Given the description of an element on the screen output the (x, y) to click on. 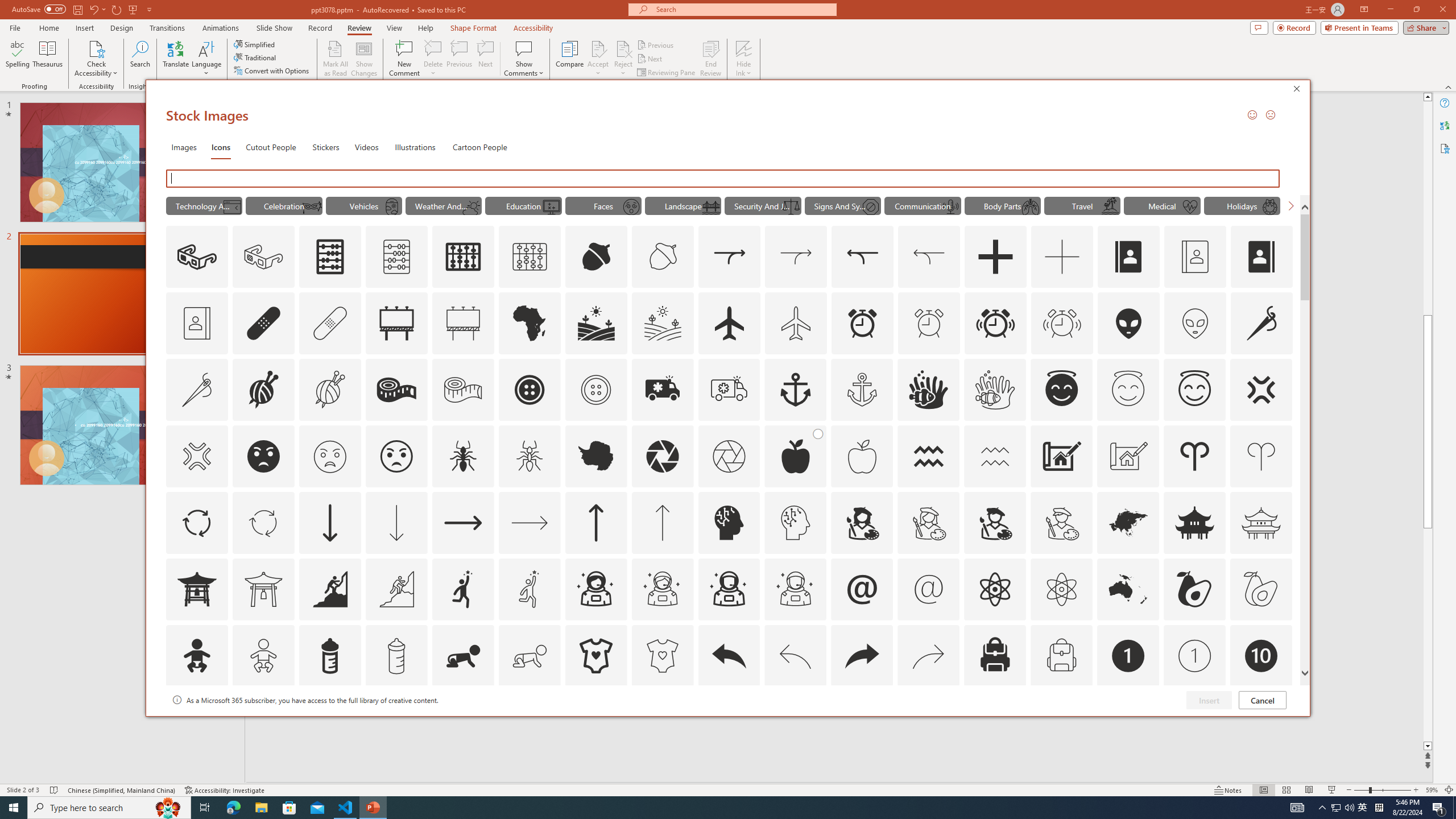
AutomationID: Icons_AngerSymbol_M (196, 455)
"Medical" Icons. (1162, 205)
Next Search Suggestion (1290, 205)
AutomationID: Icons_AsianTemple (1194, 522)
AutomationID: Icons_ArrowDown_M (395, 522)
AutomationID: Icons_AsianTemple_M (1260, 522)
AutomationID: Icons_Badge9_M (1260, 721)
Show Changes (363, 58)
